Given the description of an element on the screen output the (x, y) to click on. 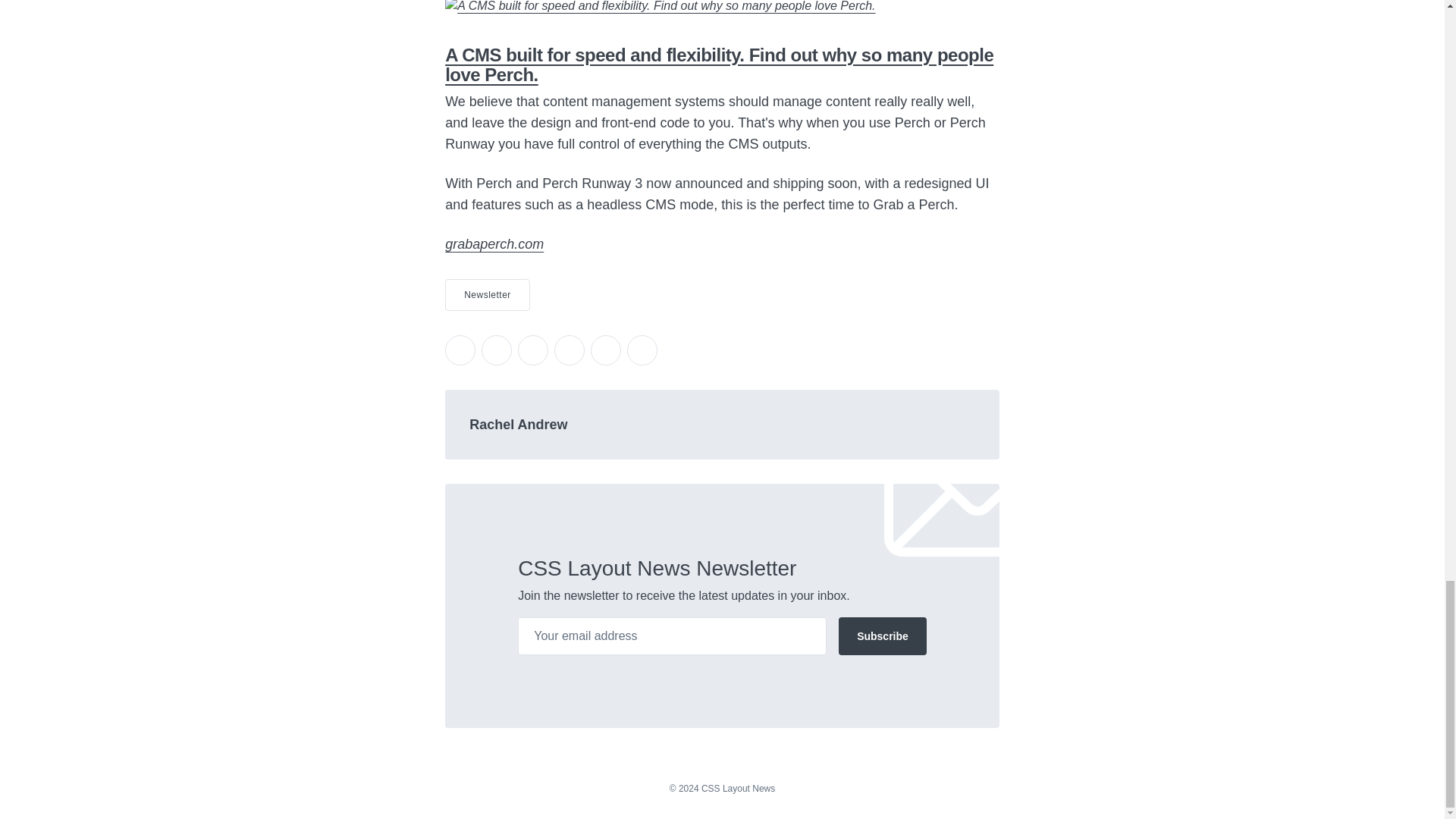
Copy link (642, 349)
Share on LinkedIn (533, 349)
Share via Email (606, 349)
Share on Pinterest (569, 349)
Share on Facebook (496, 349)
Newsletter (487, 295)
Subscribe (882, 636)
grabaperch.com (494, 243)
Rachel Andrew (517, 424)
